Given the description of an element on the screen output the (x, y) to click on. 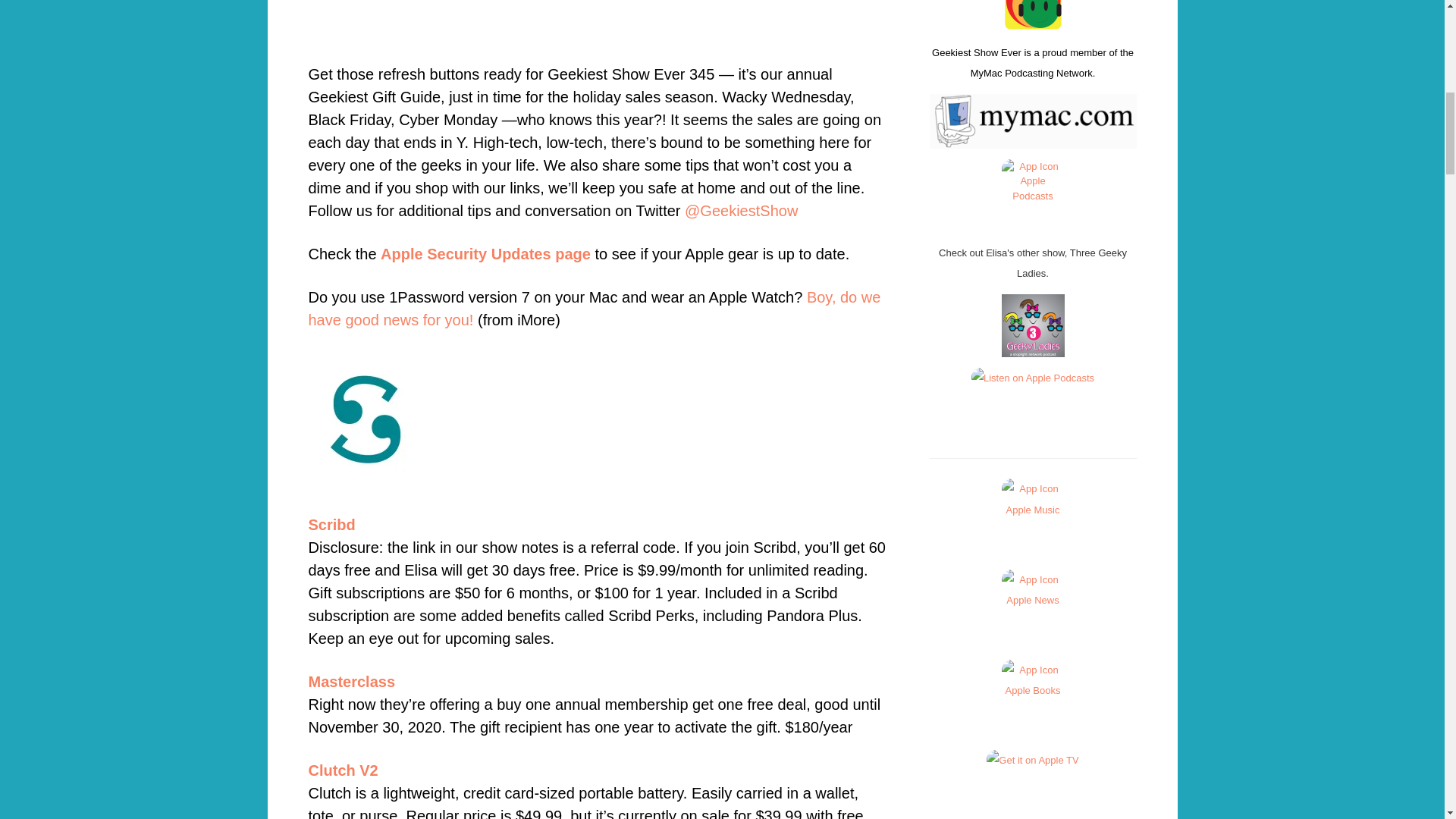
Scribd (331, 524)
Boy, do we have good news for you! (593, 308)
Masterclass (350, 681)
Clutch V2 (342, 770)
Apple Security Updates page (485, 253)
